Given the description of an element on the screen output the (x, y) to click on. 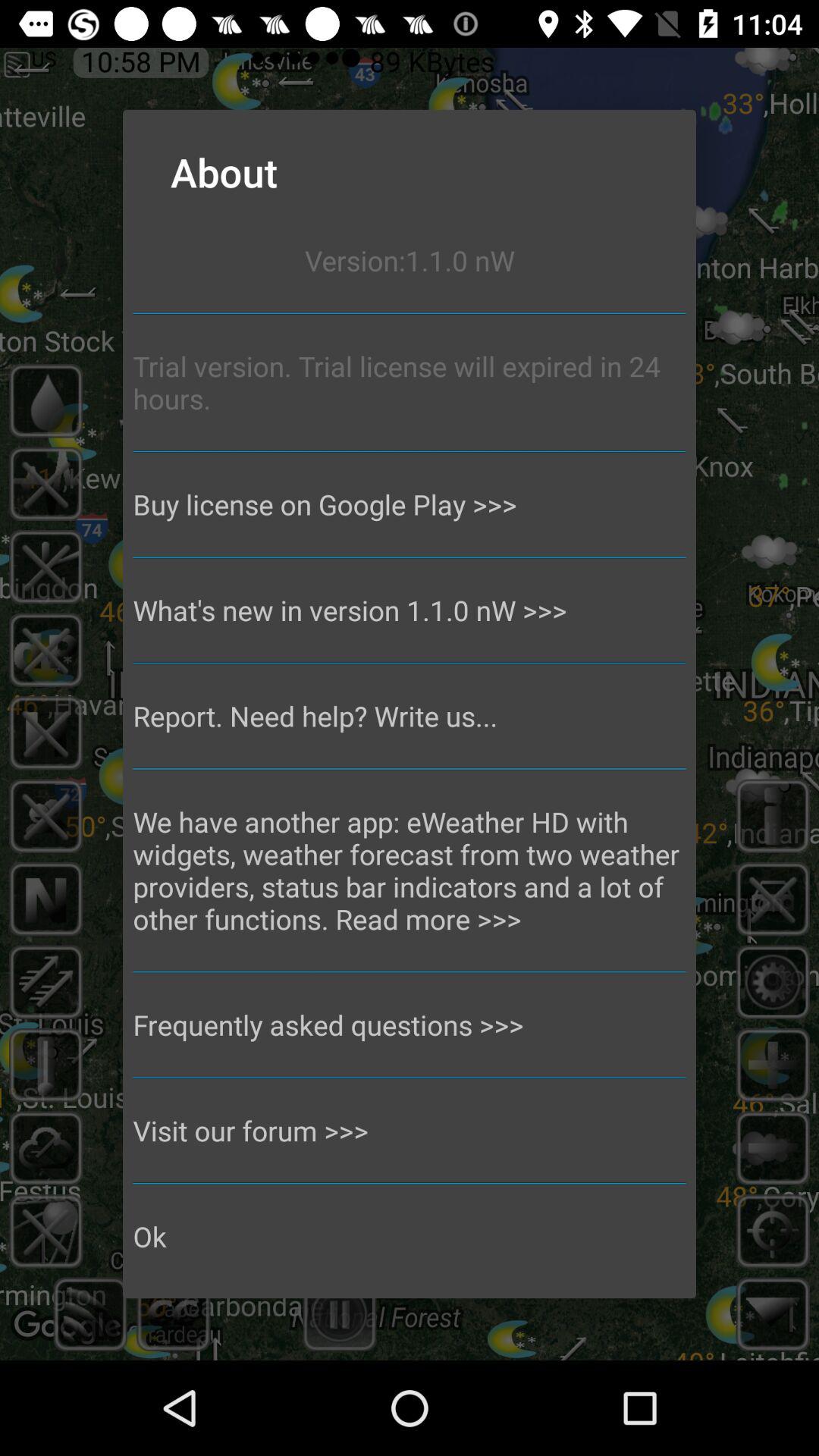
click frequently asked questions >>> (409, 1024)
